Given the description of an element on the screen output the (x, y) to click on. 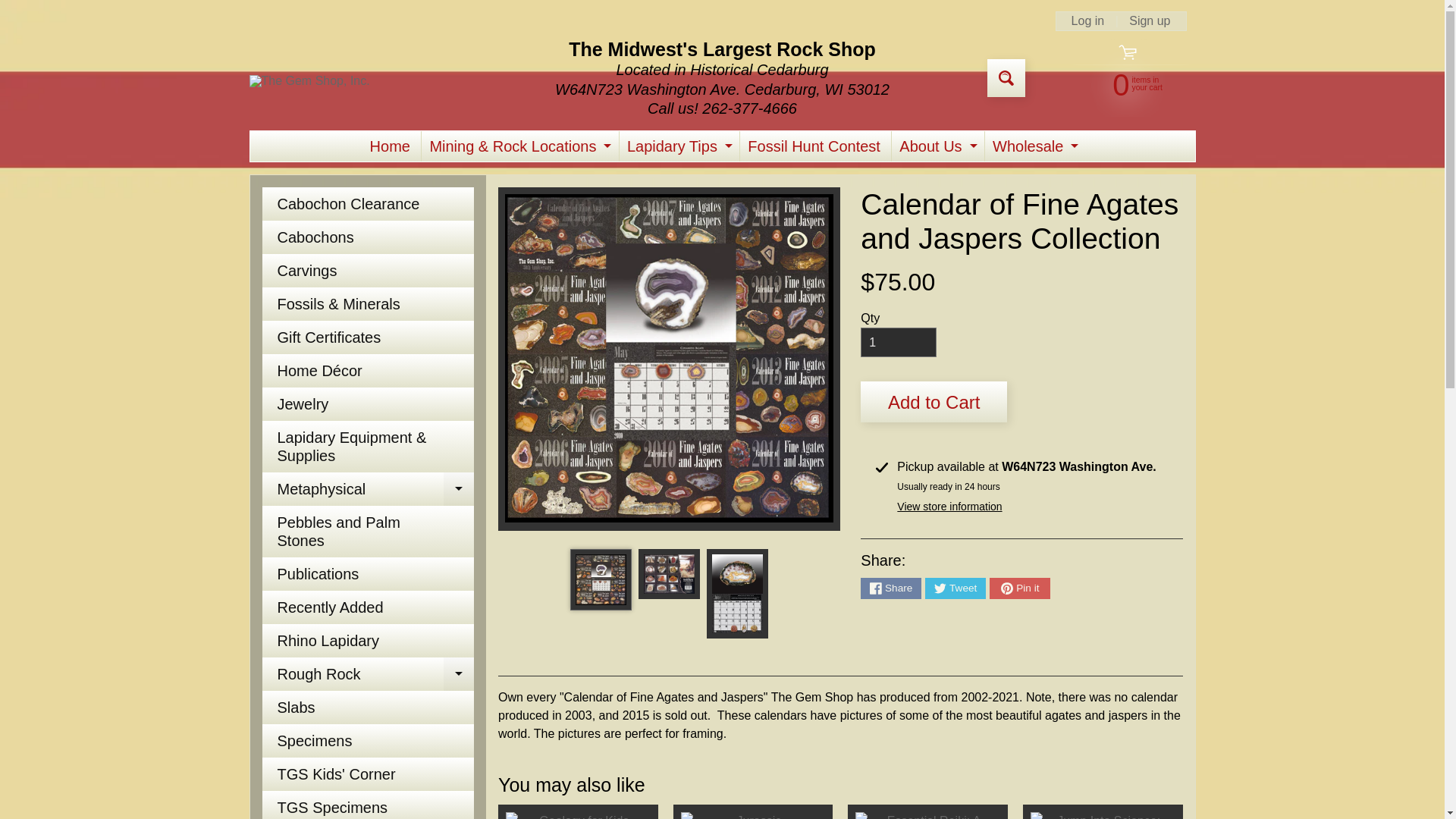
Share on Facebook (890, 588)
Calendar of Fine Agates and Jaspers Collection (669, 573)
Skip to content (22, 8)
Geology for Kids (1033, 146)
The Gem Shop, Inc. (577, 811)
Home (935, 146)
Fossil Hunt Contest (308, 80)
